Given the description of an element on the screen output the (x, y) to click on. 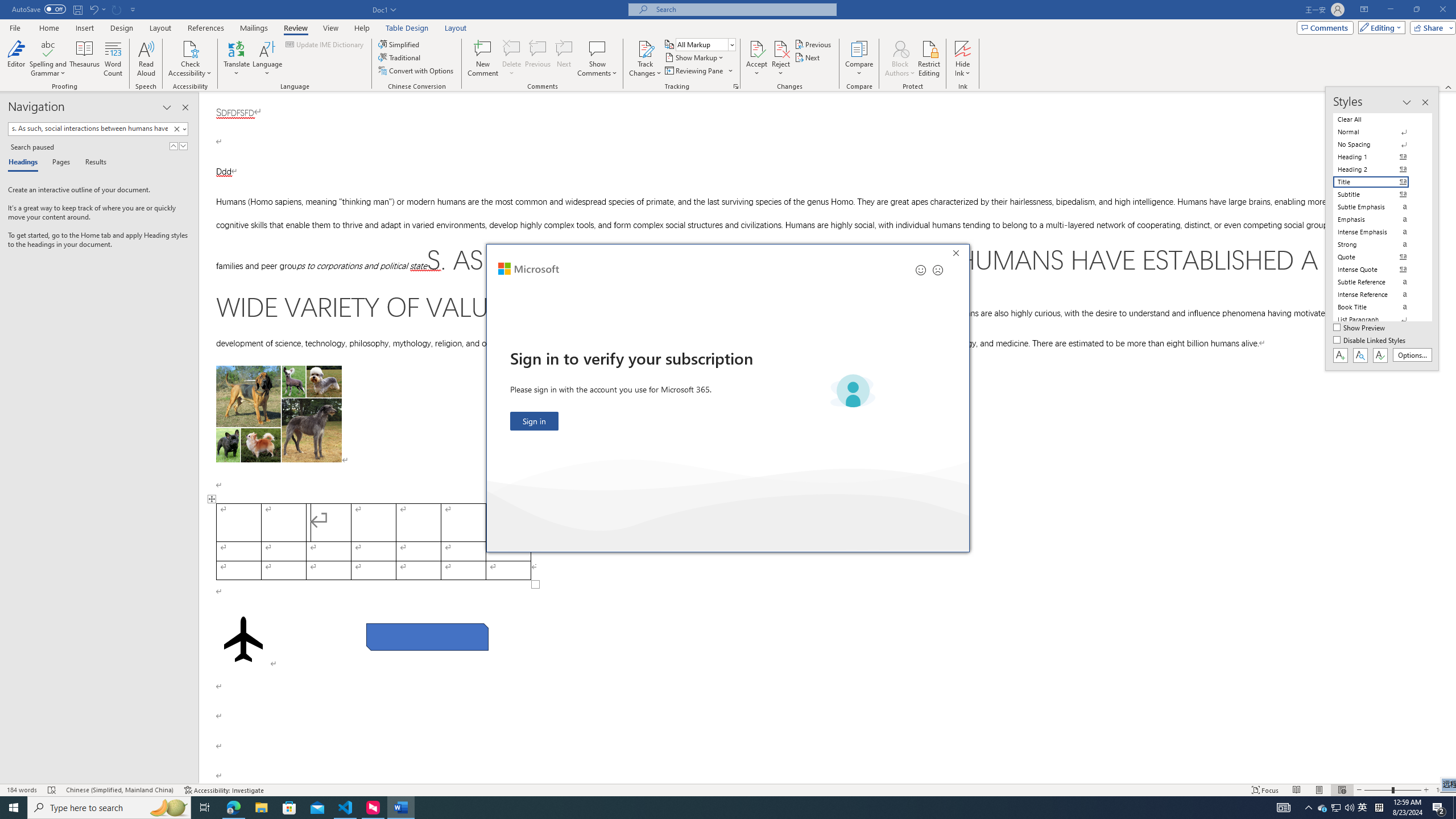
Accept (756, 58)
Disable Linked Styles (1370, 340)
Reject (780, 58)
Show Preview (1360, 328)
Subtle Emphasis (1377, 206)
Thesaurus... (1362, 807)
Options... (84, 58)
Reject and Move to Next (1412, 354)
Word Count (780, 48)
